Given the description of an element on the screen output the (x, y) to click on. 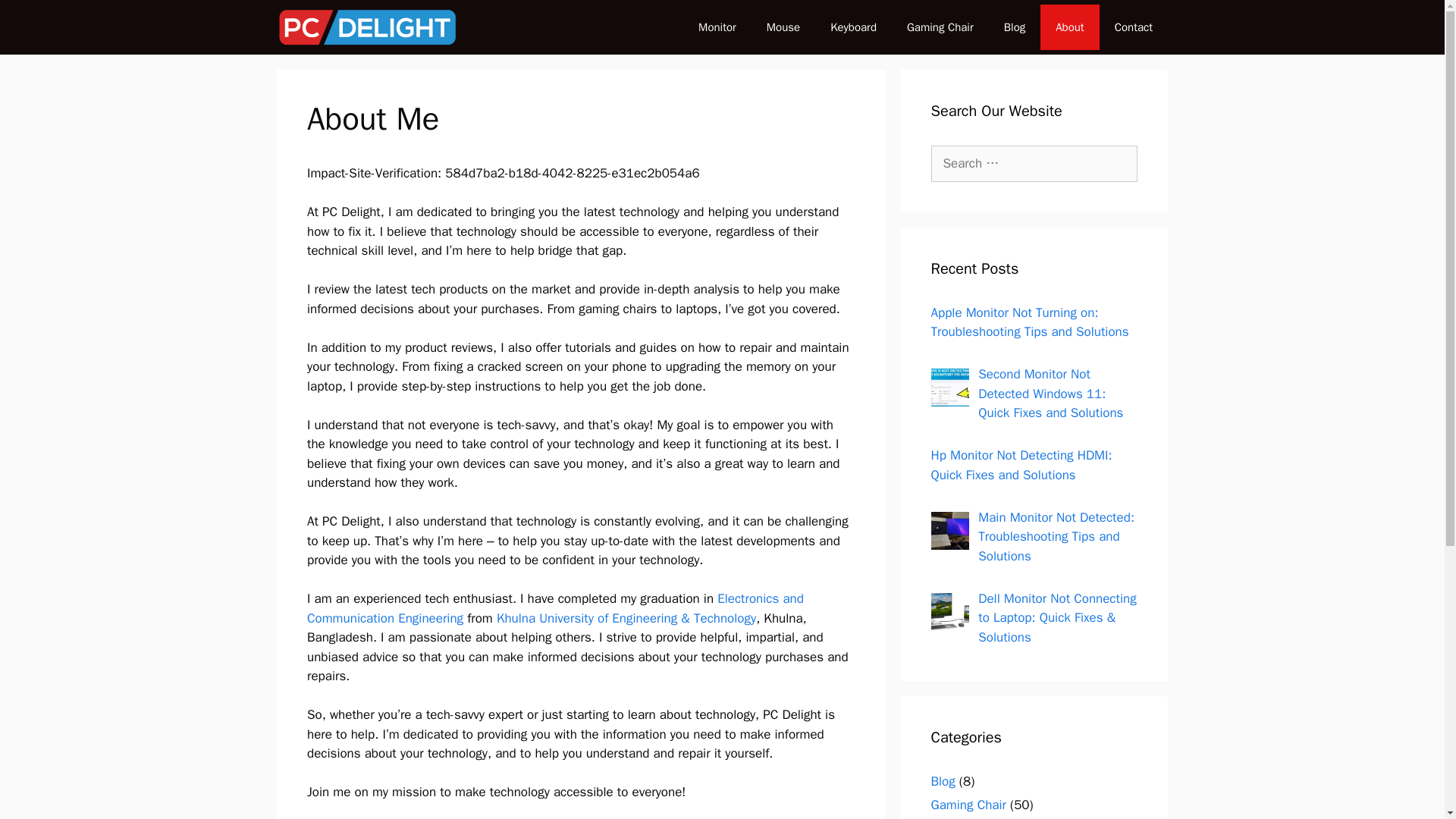
Hp Monitor Not Detecting HDMI: Quick Fixes and Solutions (1021, 465)
Gaming Chair (968, 804)
Search for: (1034, 163)
Keyboard (853, 26)
Contact (1133, 26)
Electronics and Communication Engineering (555, 608)
PC Delight (367, 27)
Blog (1014, 26)
Monitor (716, 26)
